Given the description of an element on the screen output the (x, y) to click on. 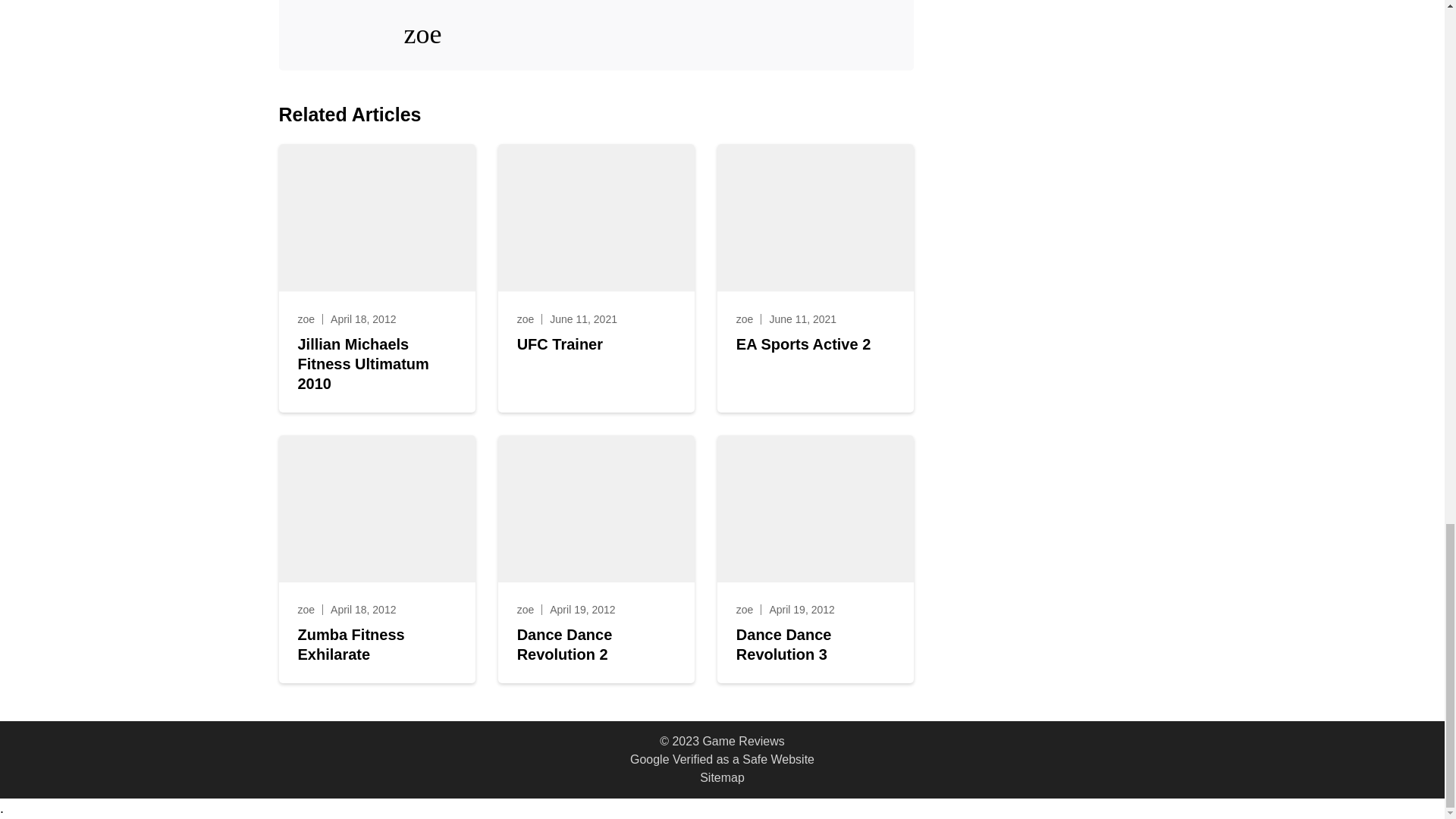
June 11, 2021 (801, 318)
June 11, 2021 (583, 318)
UFC Trainer (559, 343)
April 18, 2012 (363, 609)
Jillian Michaels Fitness Ultimatum 2010 (376, 363)
zoe (305, 318)
zoe (525, 318)
EA Sports Active 2 (803, 343)
zoe (745, 318)
zoe (305, 609)
April 18, 2012 (363, 318)
